Given the description of an element on the screen output the (x, y) to click on. 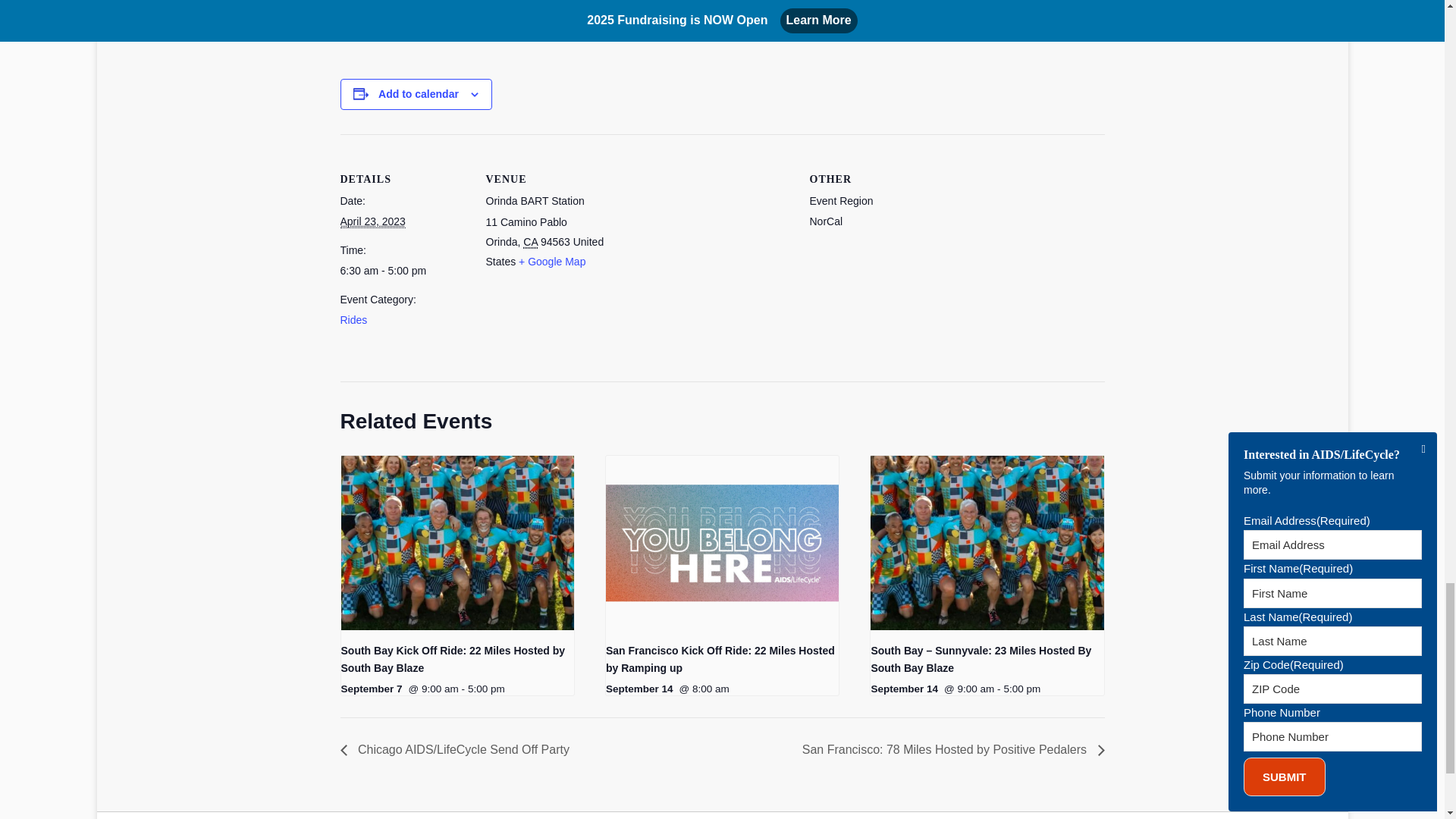
2023-04-23 (371, 221)
Click to view a Google Map (551, 261)
California (529, 241)
2023-04-23 (403, 271)
